Given the description of an element on the screen output the (x, y) to click on. 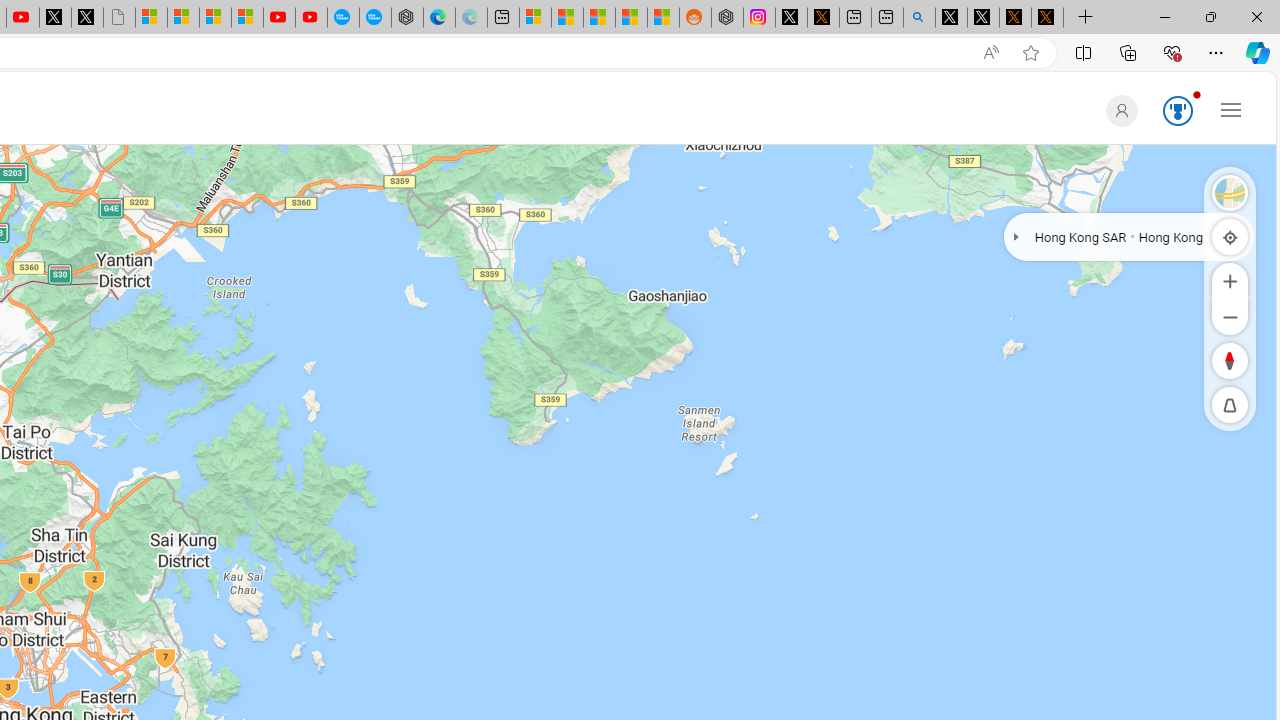
Untitled (118, 17)
Satellite (1230, 192)
Bird's eye (1230, 192)
GitHub (@github) / X (983, 17)
Rotate Right (1210, 360)
Microsoft account | Microsoft Account Privacy Settings (535, 17)
AutomationID: rh_meter (1178, 110)
